Given the description of an element on the screen output the (x, y) to click on. 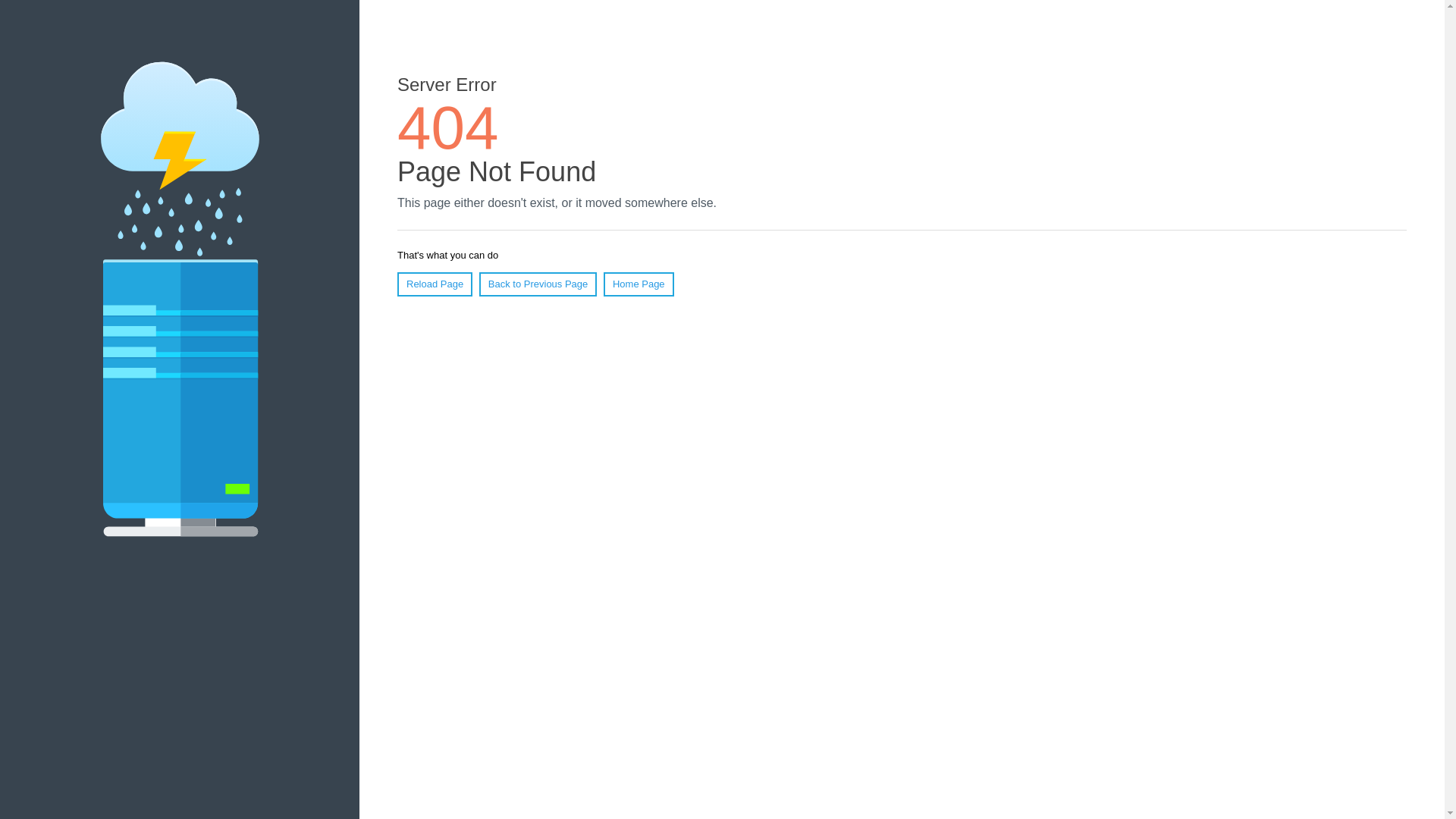
Reload Page Element type: text (434, 284)
Home Page Element type: text (638, 284)
Back to Previous Page Element type: text (538, 284)
